Given the description of an element on the screen output the (x, y) to click on. 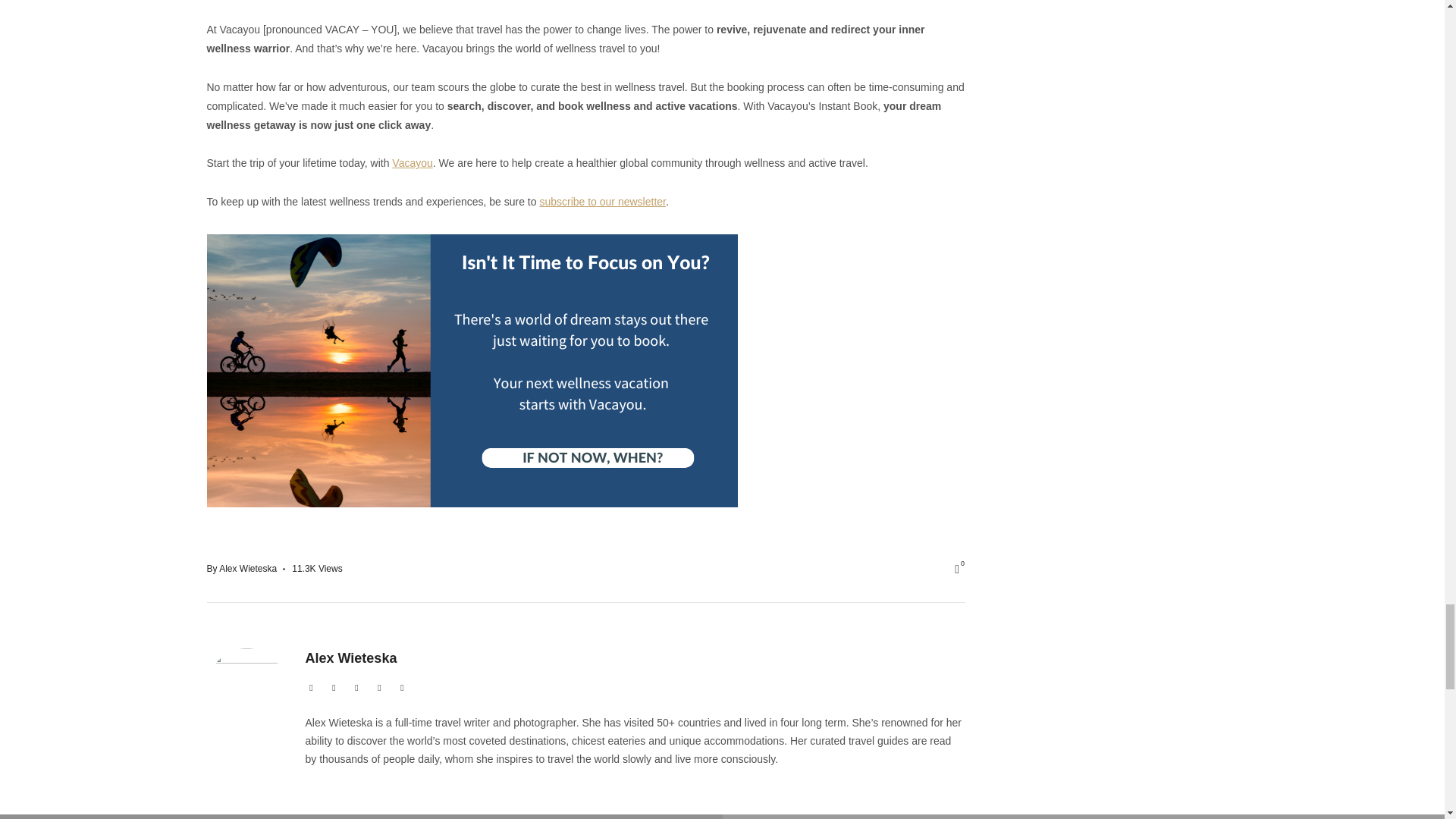
Website (311, 687)
Pinterest (402, 687)
Facebook (357, 687)
Twitter (334, 687)
Instagram (379, 687)
